Given the description of an element on the screen output the (x, y) to click on. 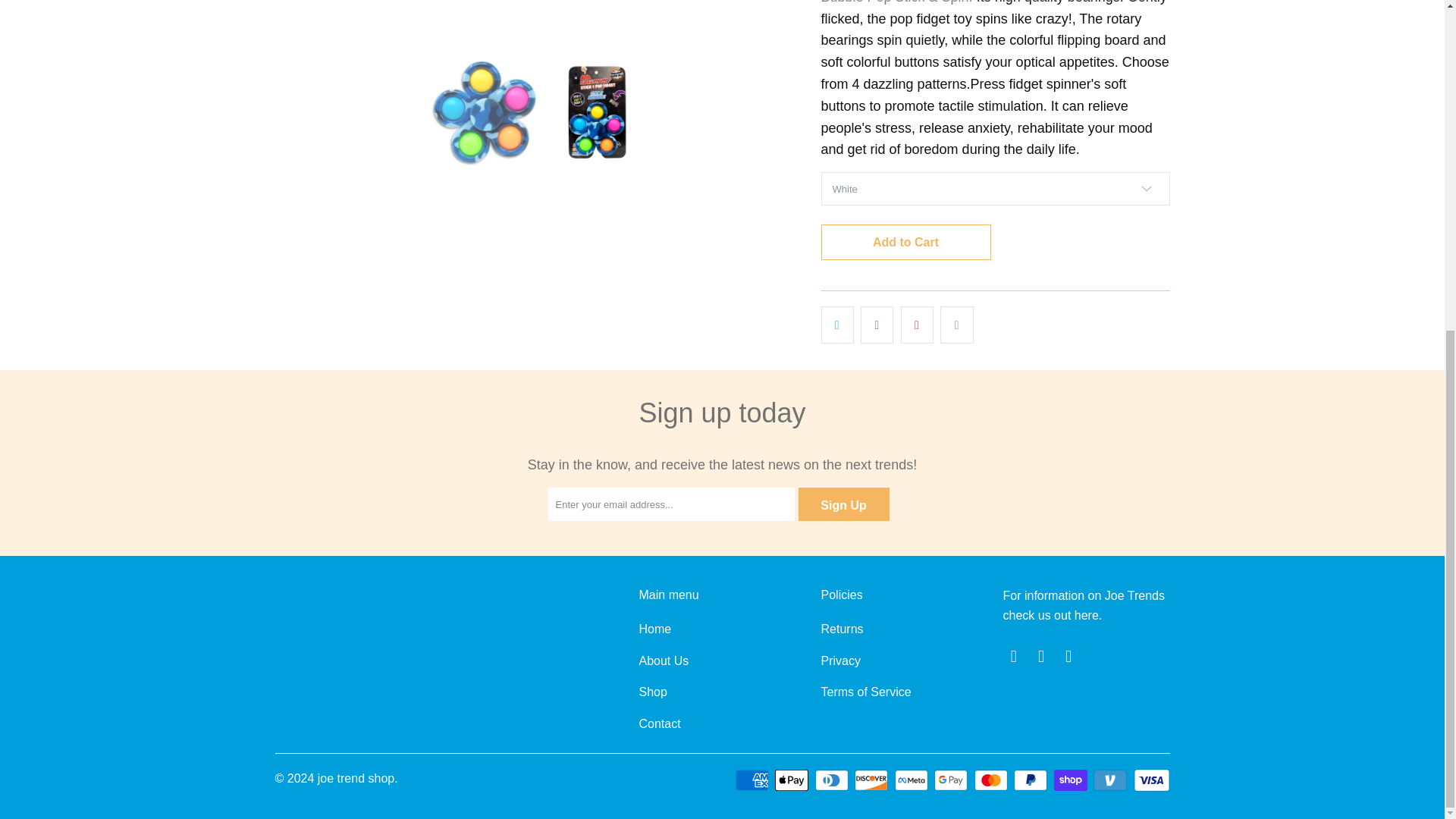
Apple Pay (792, 780)
Visa (1150, 780)
American Express (753, 780)
Discover (872, 780)
Shop Pay (1072, 780)
Mastercard (992, 780)
joe trend shop on Instagram (1041, 656)
PayPal (1031, 780)
Contact (1050, 615)
Google Pay (952, 780)
